Given the description of an element on the screen output the (x, y) to click on. 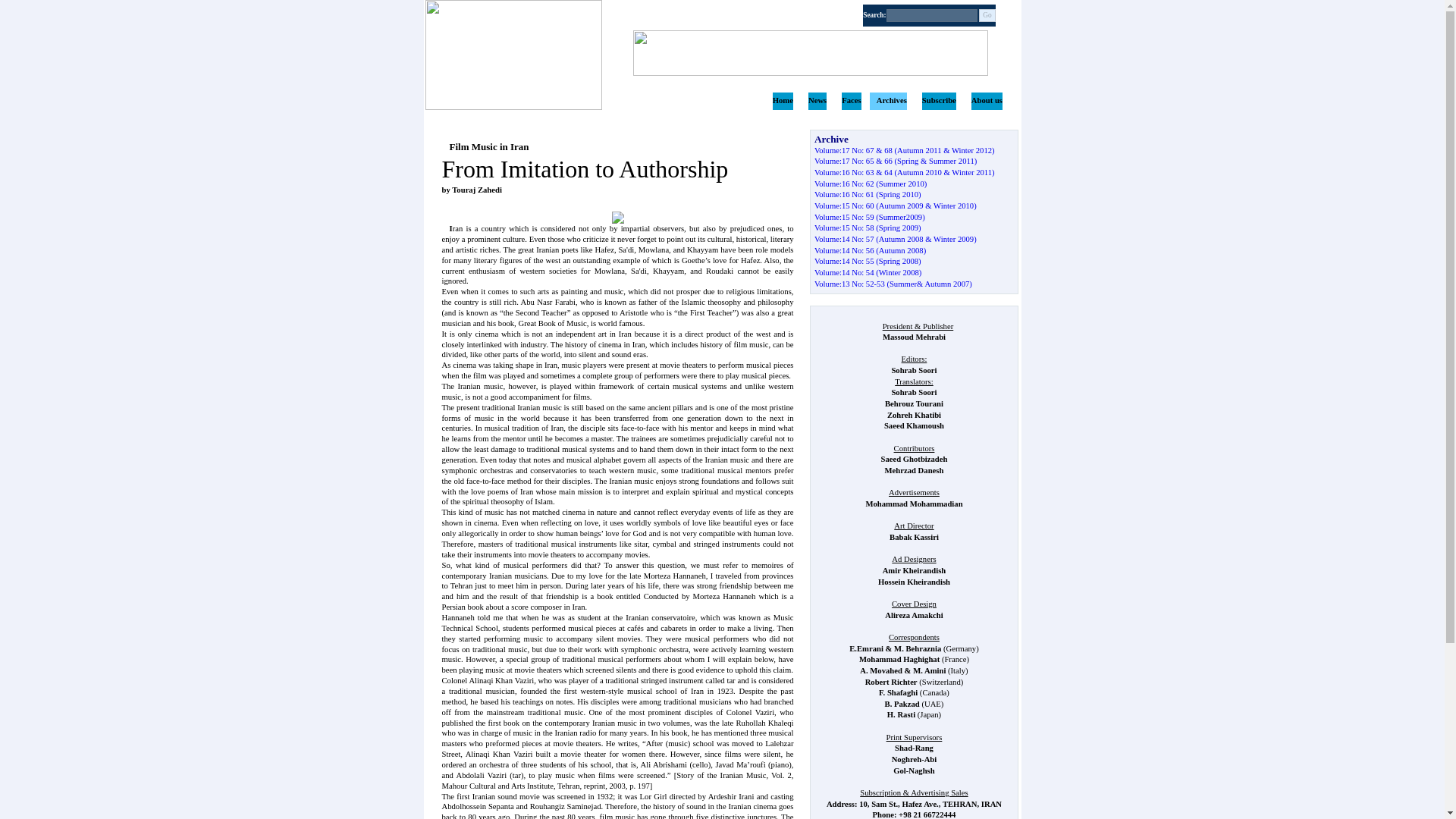
Go (986, 15)
Subscribe (938, 100)
Home (783, 100)
Faces (850, 100)
Go (986, 15)
Archives (891, 100)
News (817, 100)
About us (987, 100)
